Given the description of an element on the screen output the (x, y) to click on. 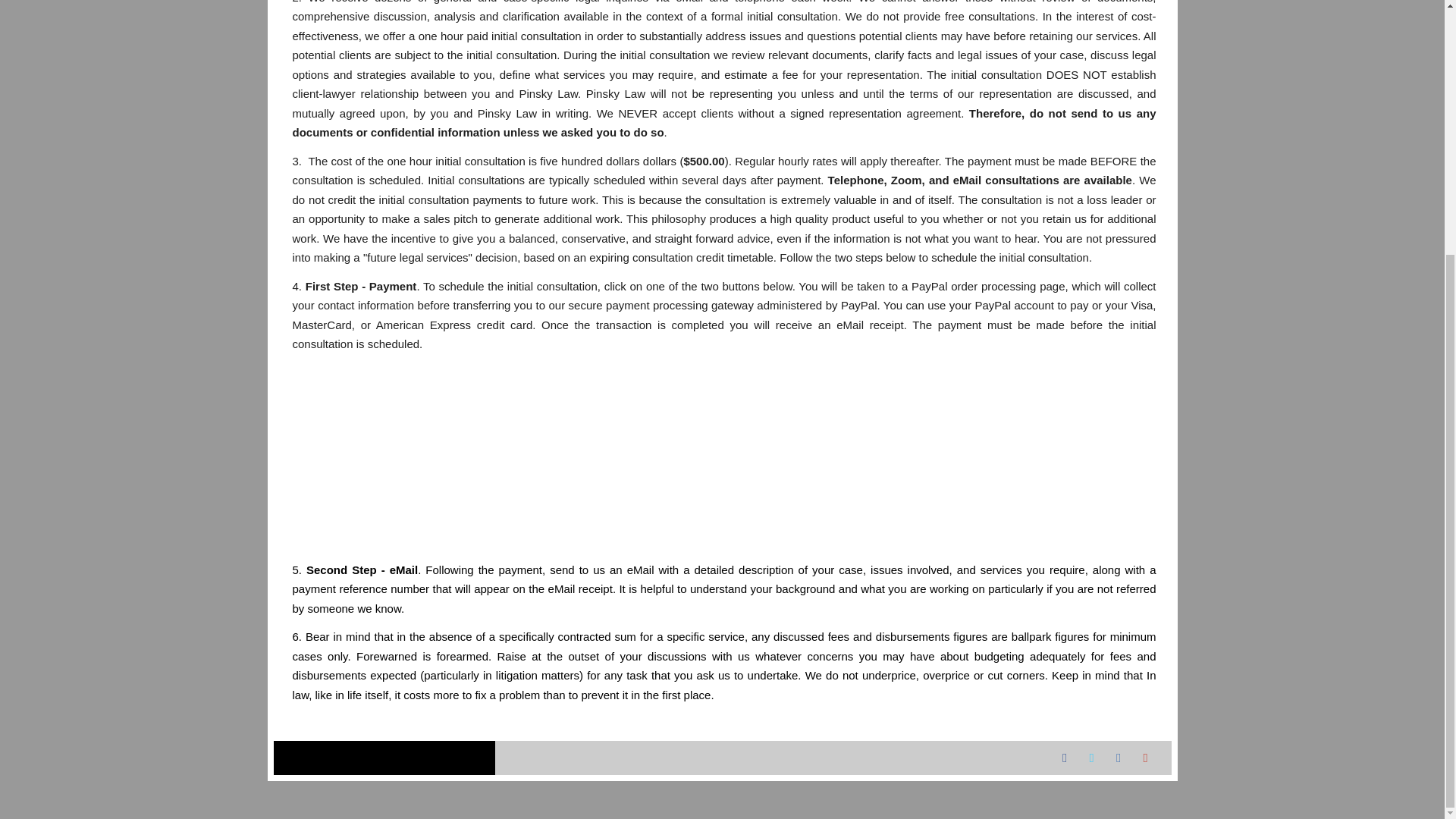
PayPal (721, 460)
